Given the description of an element on the screen output the (x, y) to click on. 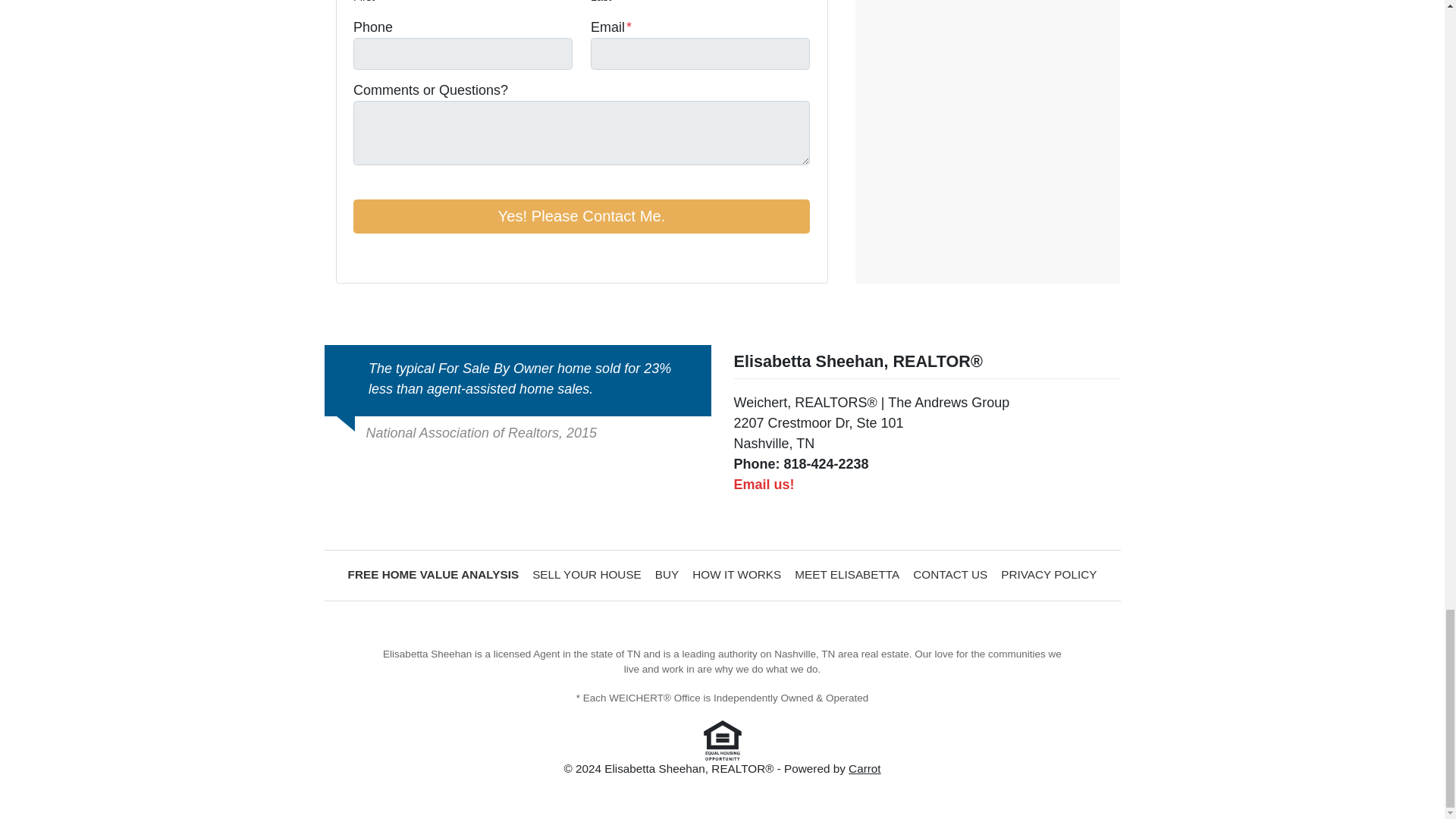
SELL YOUR HOUSE (586, 575)
Yes! Please Contact Me.  (581, 216)
MEET ELISABETTA (846, 575)
BUY (666, 575)
ghghghghgh (586, 575)
YouTube (383, 256)
HOW IT WORKS (736, 575)
Yes! Please Contact Me.  (581, 216)
Email us! (763, 484)
Facebook (362, 256)
